Given the description of an element on the screen output the (x, y) to click on. 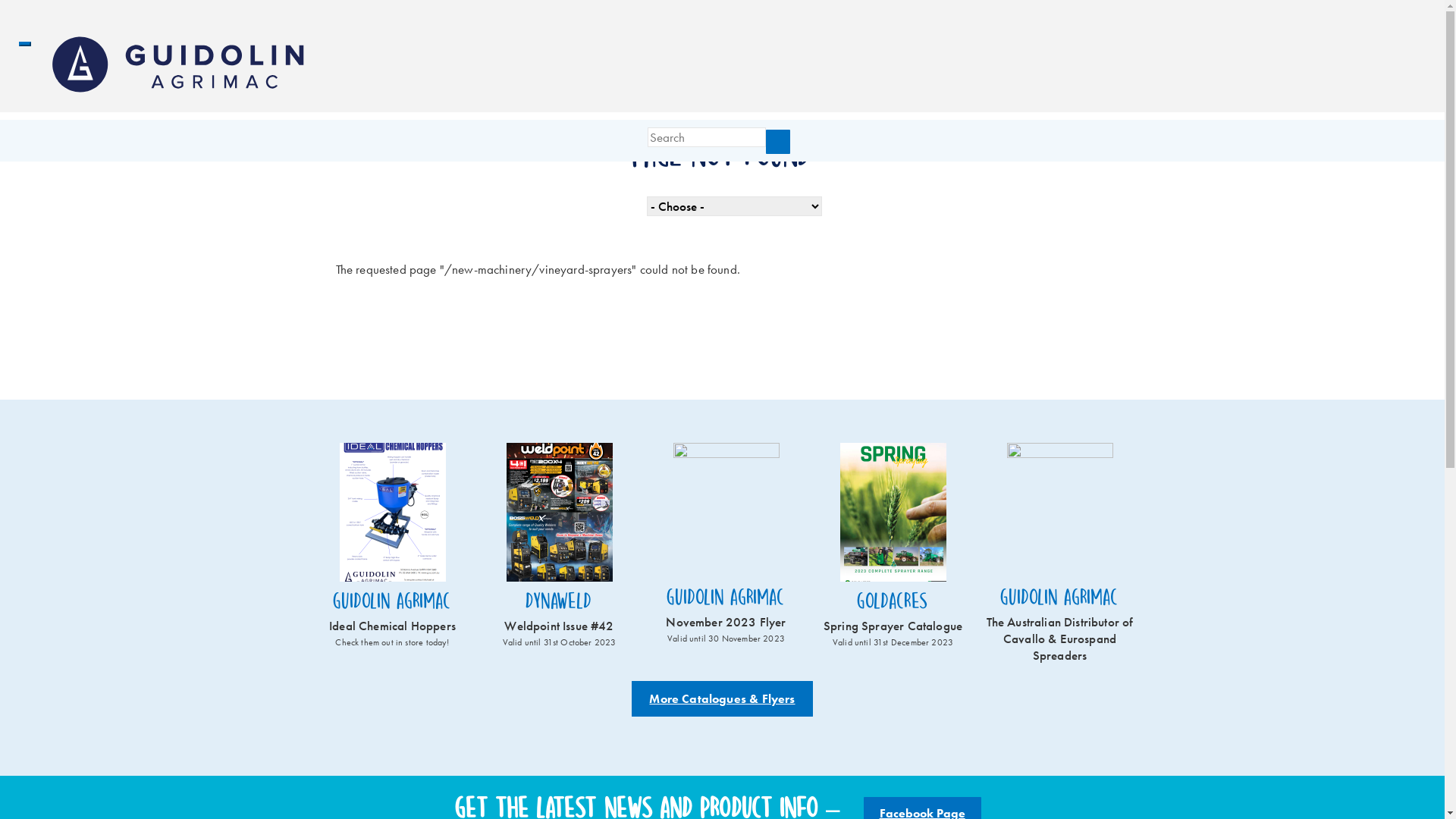
Home Element type: hover (181, 63)
Toggle navigation Element type: text (24, 43)
More Catalogues & Flyers Element type: text (721, 698)
Skip to main content Element type: text (52, 0)
Enter the terms you wish to search for. Element type: hover (706, 137)
